Given the description of an element on the screen output the (x, y) to click on. 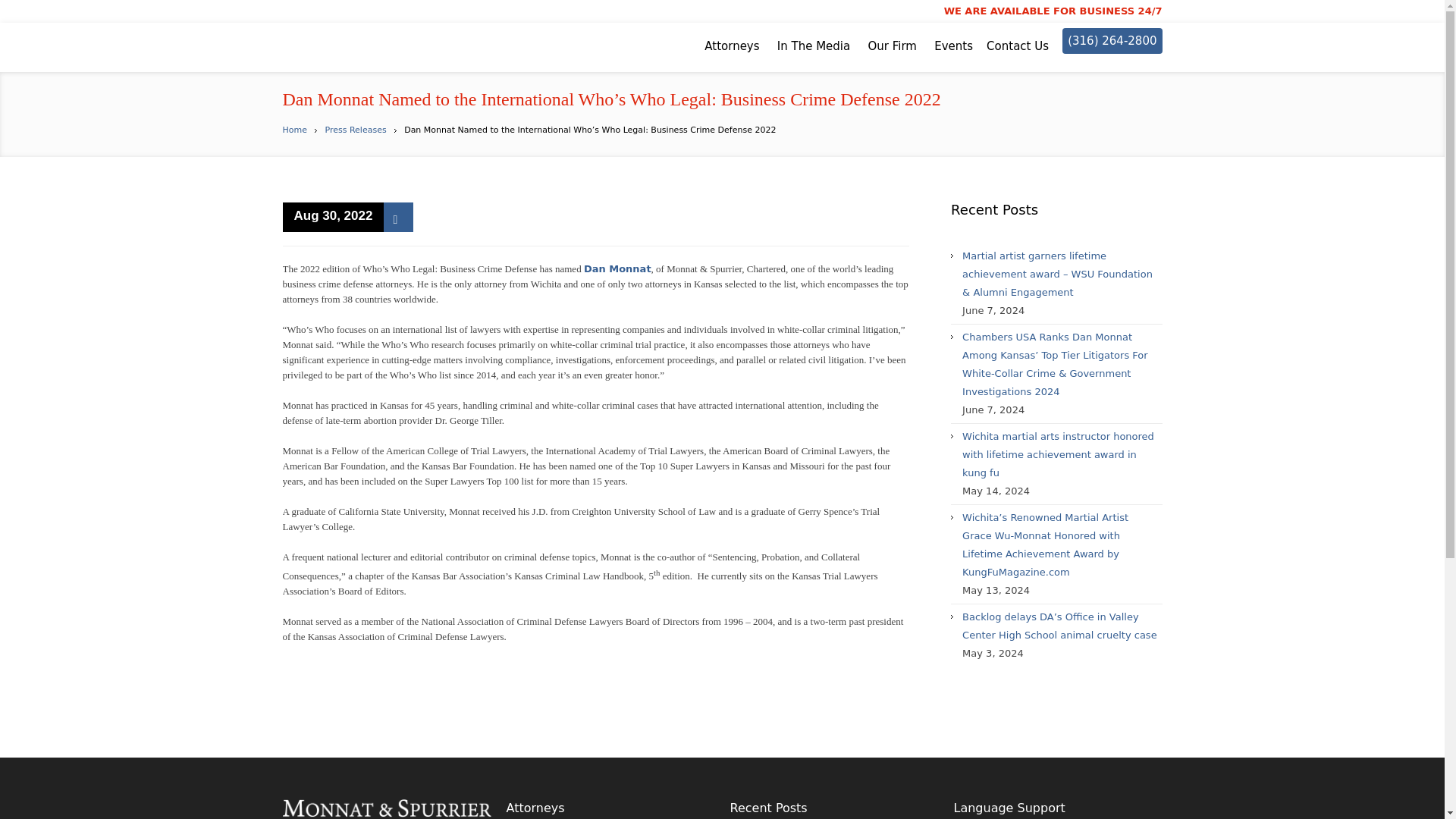
Aug 30, 2022 (333, 216)
Press Releases (354, 130)
Home (293, 130)
Attorneys (731, 46)
Contact Us (1017, 46)
Dan Monnat (616, 268)
In The Media (813, 46)
Events (953, 46)
Our Firm (891, 46)
